Given the description of an element on the screen output the (x, y) to click on. 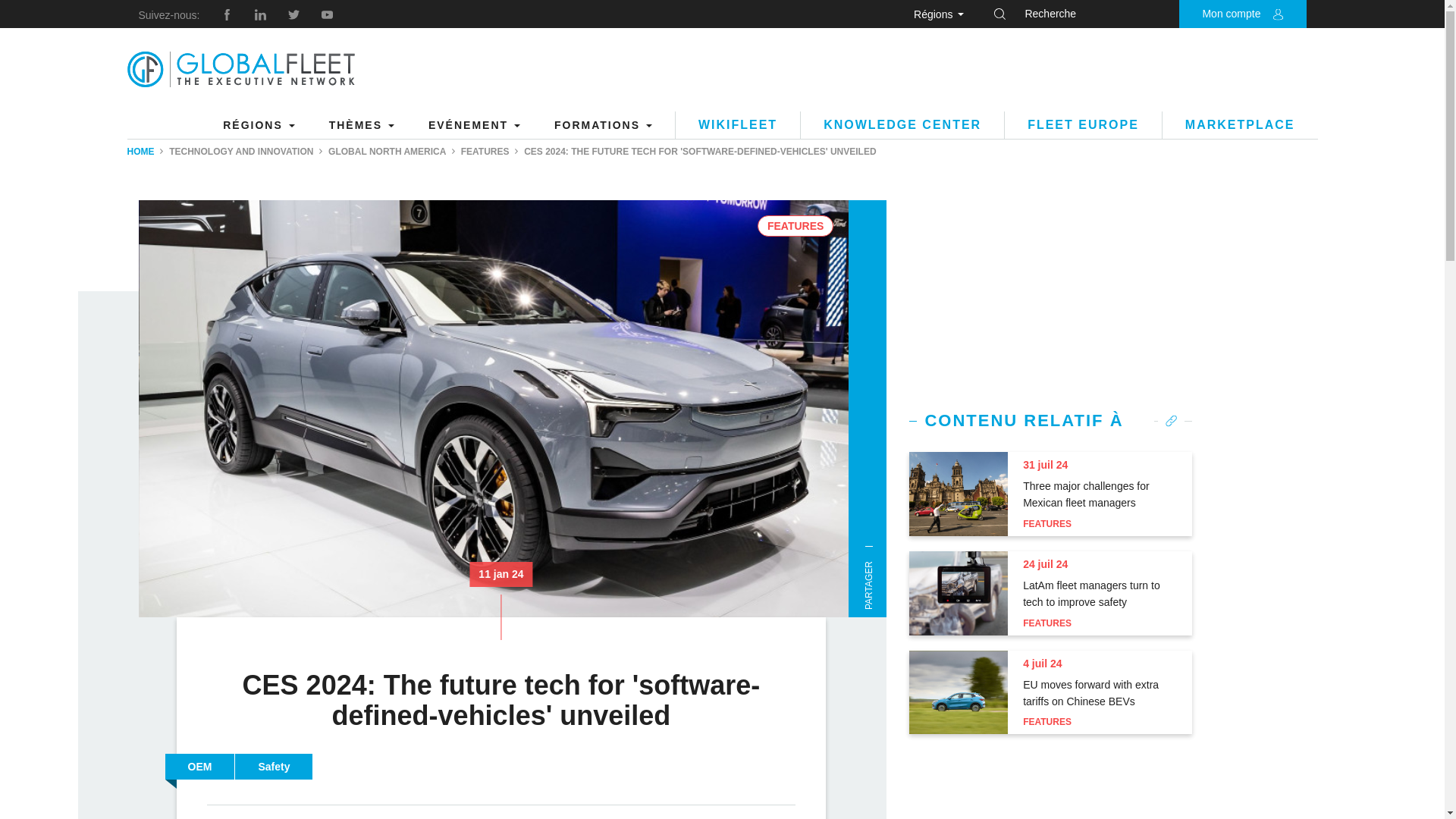
WIKIFLEET (737, 124)
FLEET EUROPE (1082, 124)
MARKETPLACE (1239, 124)
Recherche (1219, 13)
Connectez-vous (1172, 203)
Recherche (1219, 13)
3rd party ad content (1050, 294)
3rd party ad content (1050, 787)
Accueil (241, 69)
HOME (141, 151)
